Given the description of an element on the screen output the (x, y) to click on. 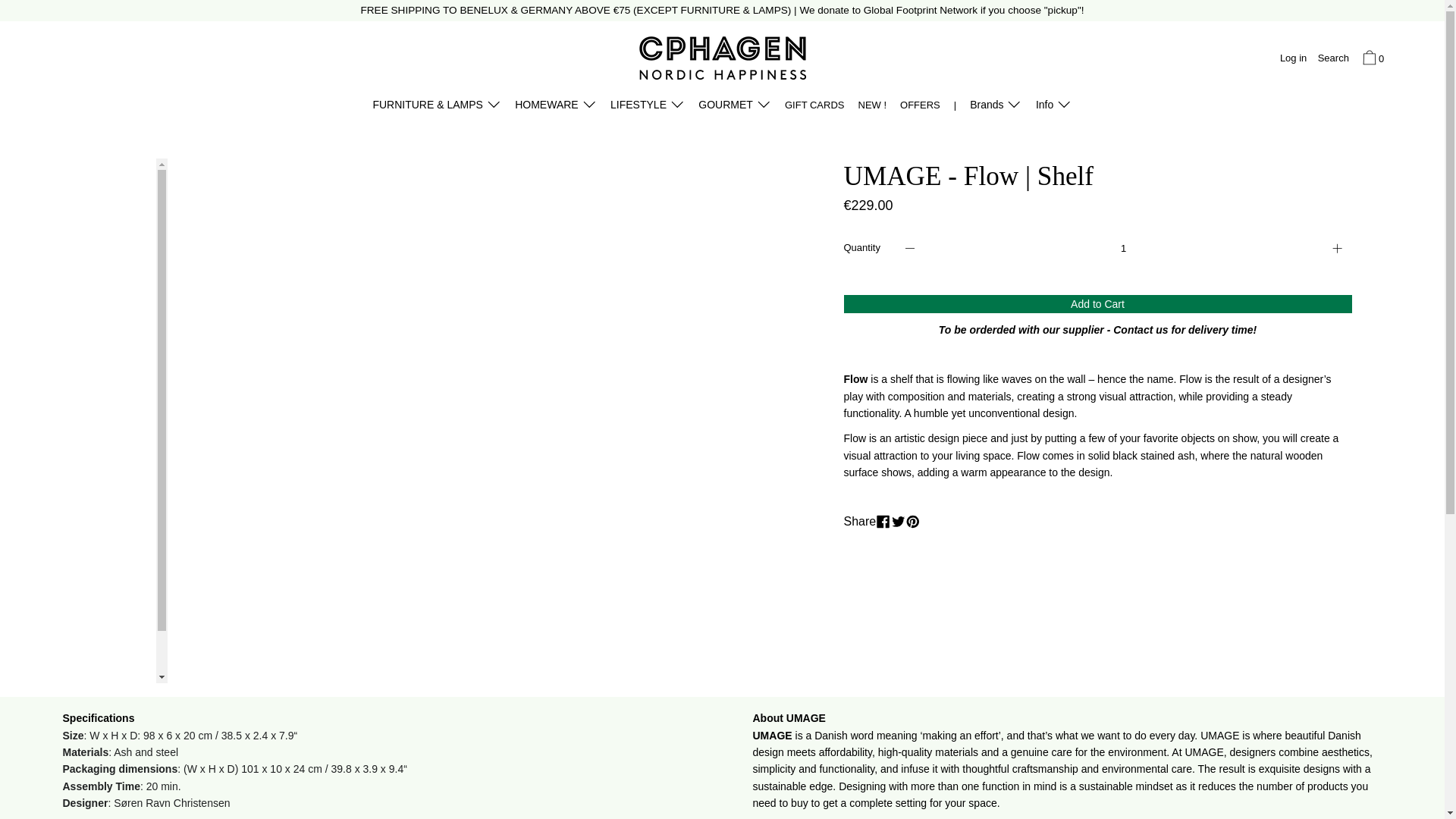
1 (1123, 247)
UMAGE (805, 717)
LIFESTYLE (647, 106)
OFFERS (919, 107)
HOMEWARE (555, 106)
Search (1332, 59)
Info (1053, 106)
NEW ! (871, 107)
GOURMET (734, 106)
0 (1371, 59)
Page 3 (1097, 425)
Brands (995, 106)
Log in (1294, 59)
GIFT CARDS (814, 107)
